Given the description of an element on the screen output the (x, y) to click on. 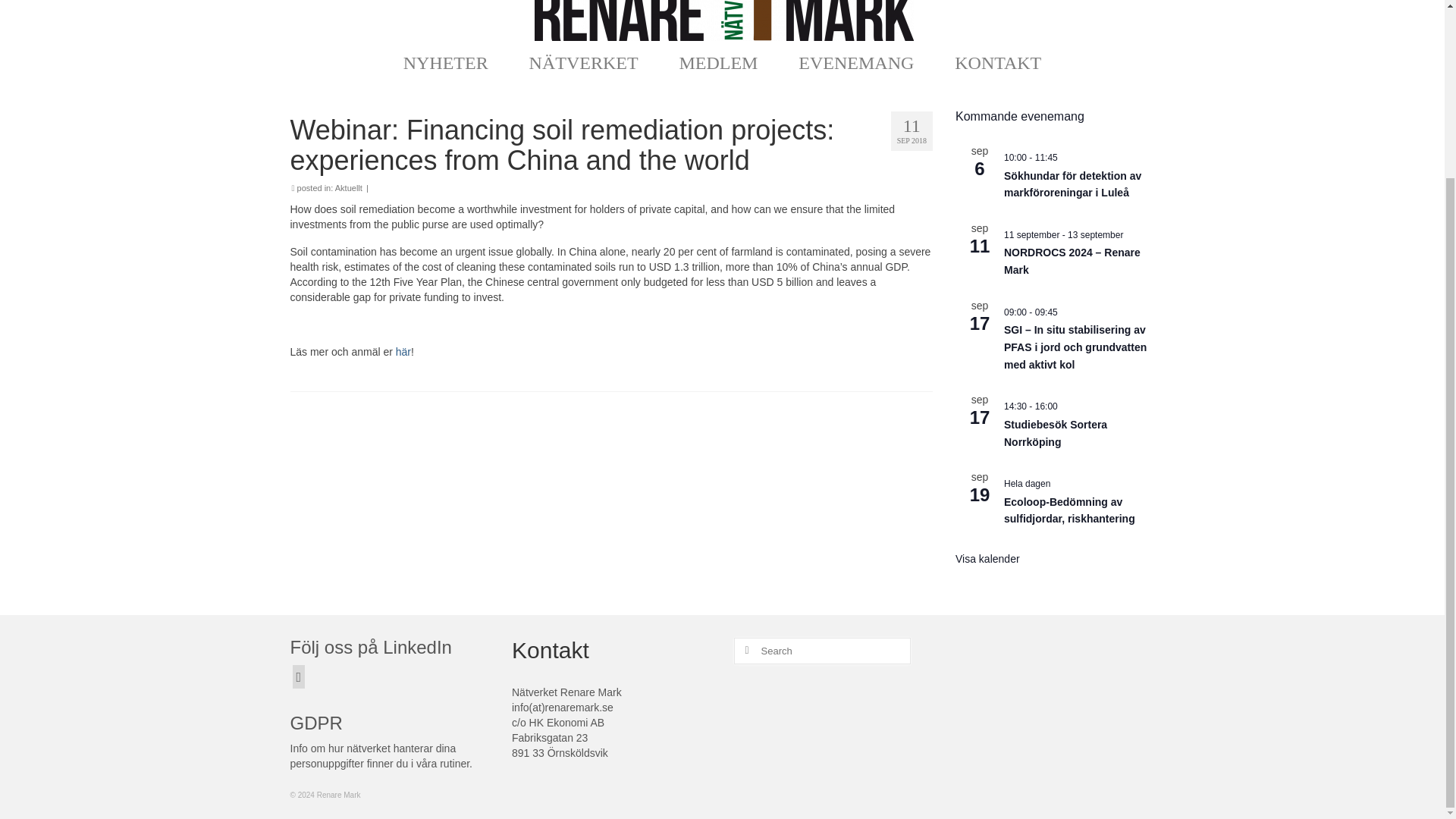
MEDLEM (721, 62)
Renare Mark (724, 20)
Visa fler evenemang. (987, 558)
NYHETER (449, 62)
